Given the description of an element on the screen output the (x, y) to click on. 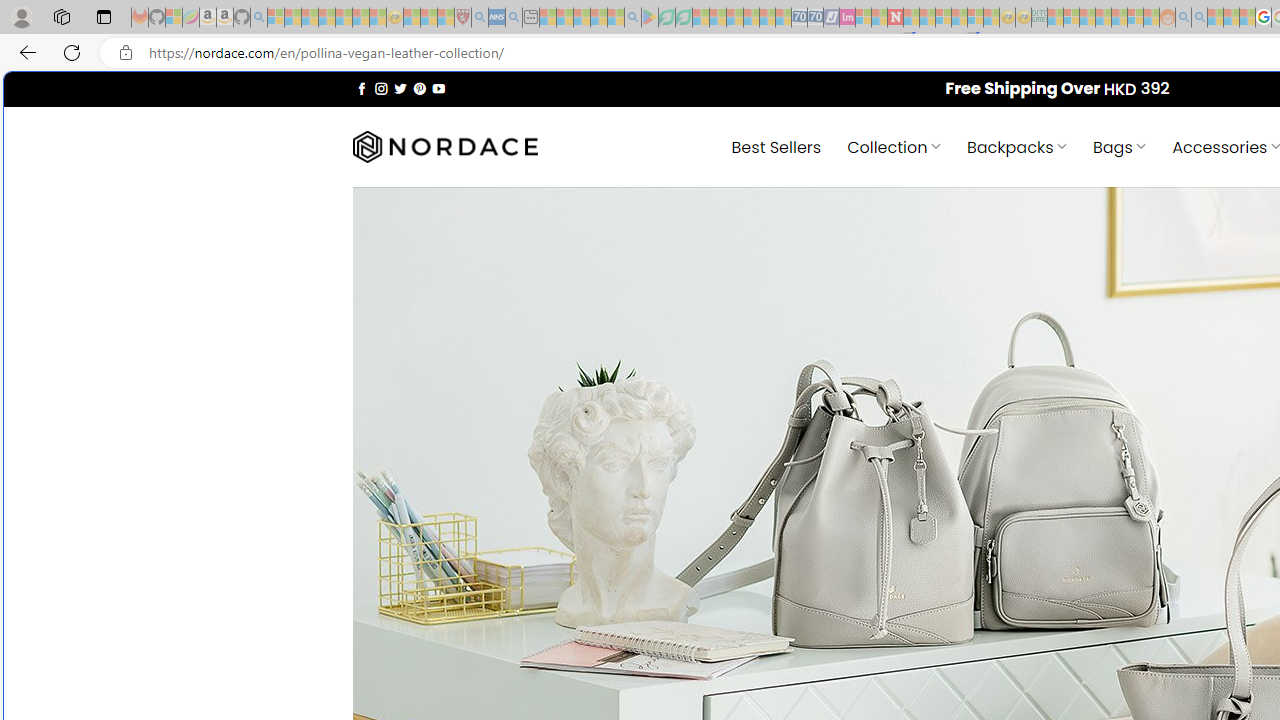
Follow on Pinterest (419, 88)
 Best Sellers (775, 146)
